Given the description of an element on the screen output the (x, y) to click on. 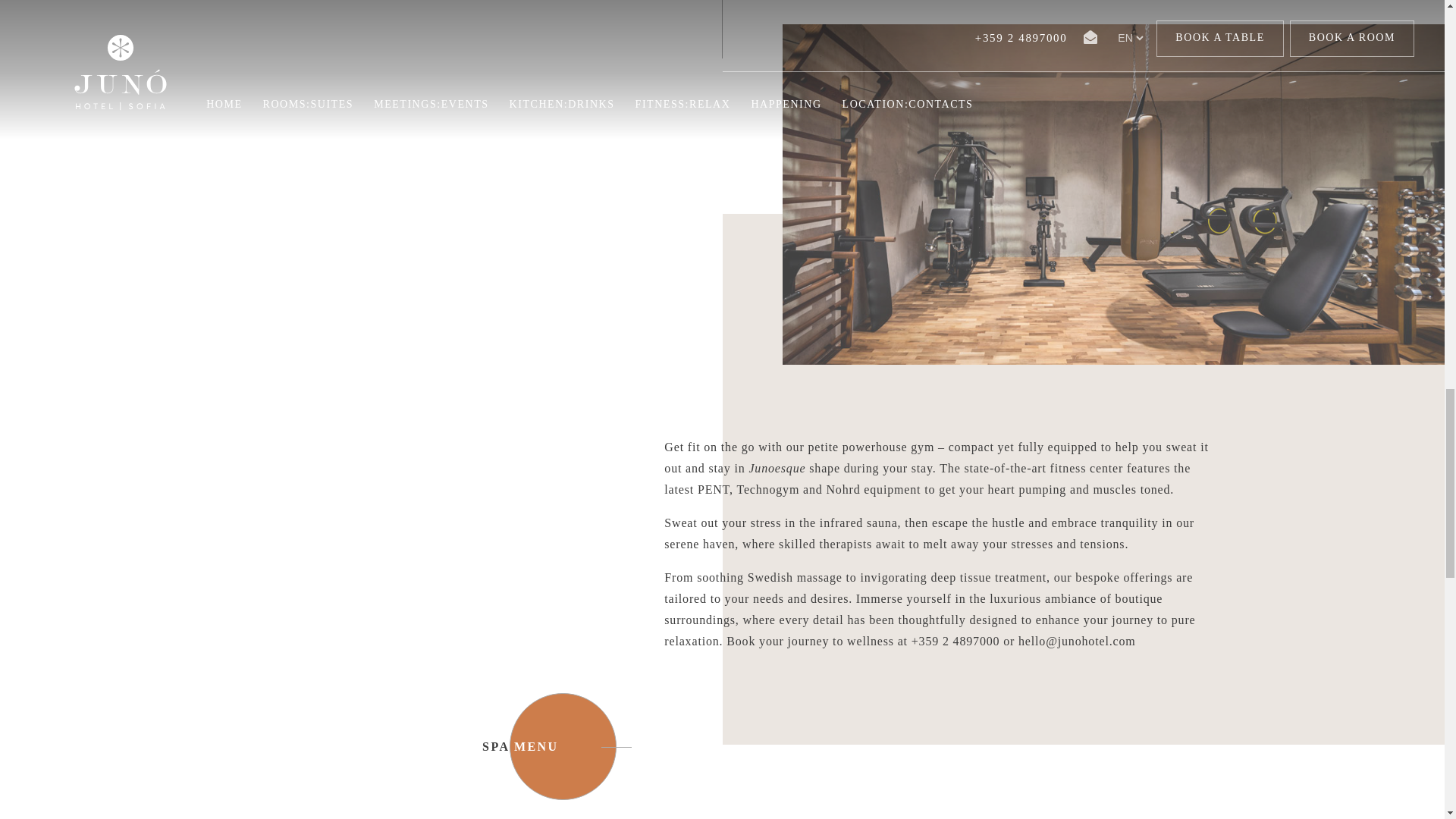
SPA MENU (562, 746)
